Given the description of an element on the screen output the (x, y) to click on. 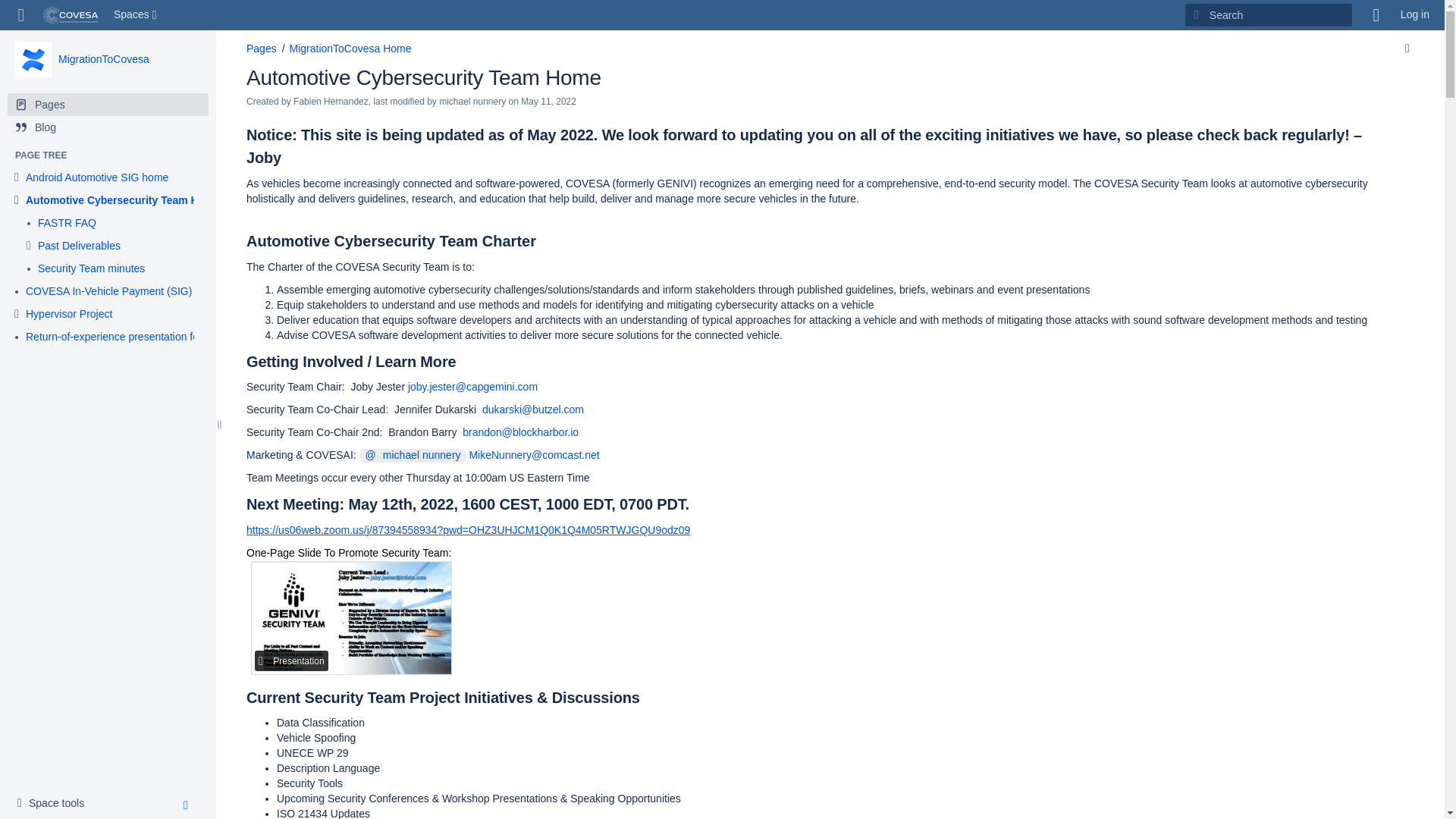
Help (1376, 15)
MigrationToCovesa (103, 59)
Spaces (136, 15)
MigrationToCovesa (103, 59)
Android Automotive SIG home (97, 177)
Log in (1415, 15)
Blog (54, 803)
FASTR FAQ (107, 127)
